Given the description of an element on the screen output the (x, y) to click on. 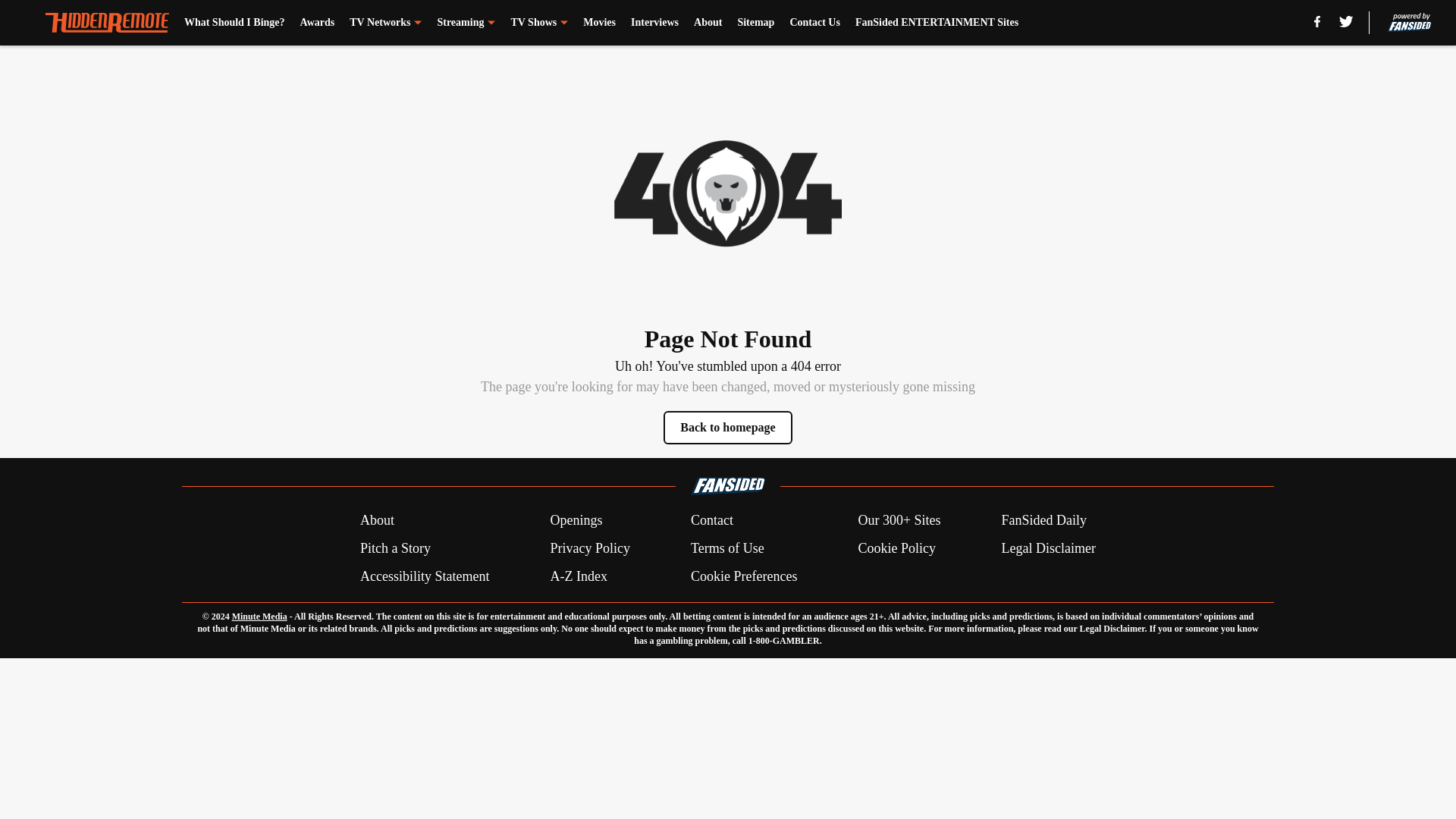
What Should I Binge? (234, 22)
Awards (316, 22)
About (376, 520)
Sitemap (755, 22)
Contact (711, 520)
FanSided ENTERTAINMENT Sites (936, 22)
Back to homepage (727, 427)
Error image (727, 193)
Pitch a Story (394, 548)
FanSided Daily (1044, 520)
